Given the description of an element on the screen output the (x, y) to click on. 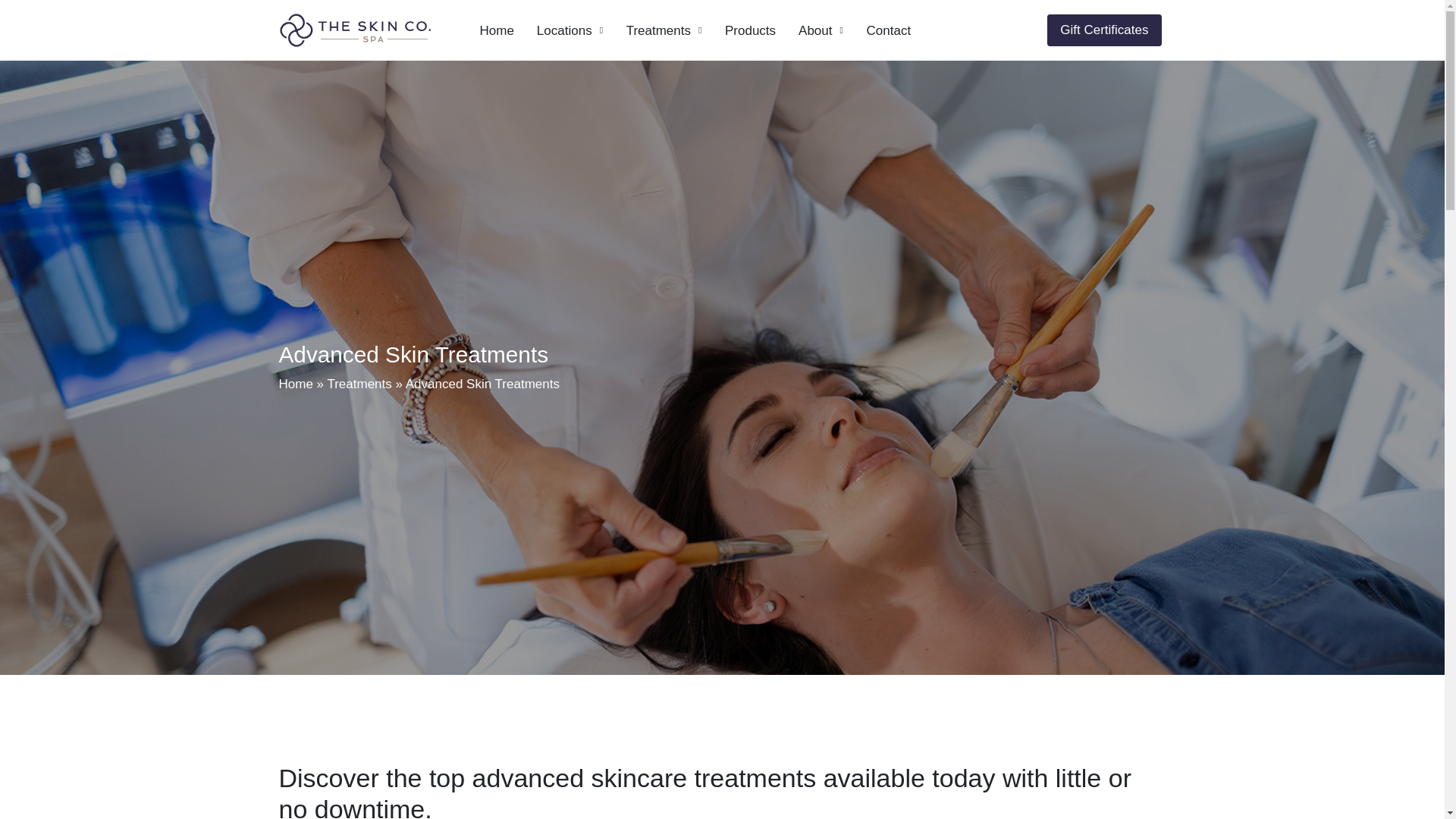
Home (496, 30)
Treatments (663, 30)
About (820, 30)
Home (296, 383)
Locations (569, 30)
Treatments (358, 383)
Products (750, 30)
Gift Certificates (1103, 29)
Contact (889, 30)
